Given the description of an element on the screen output the (x, y) to click on. 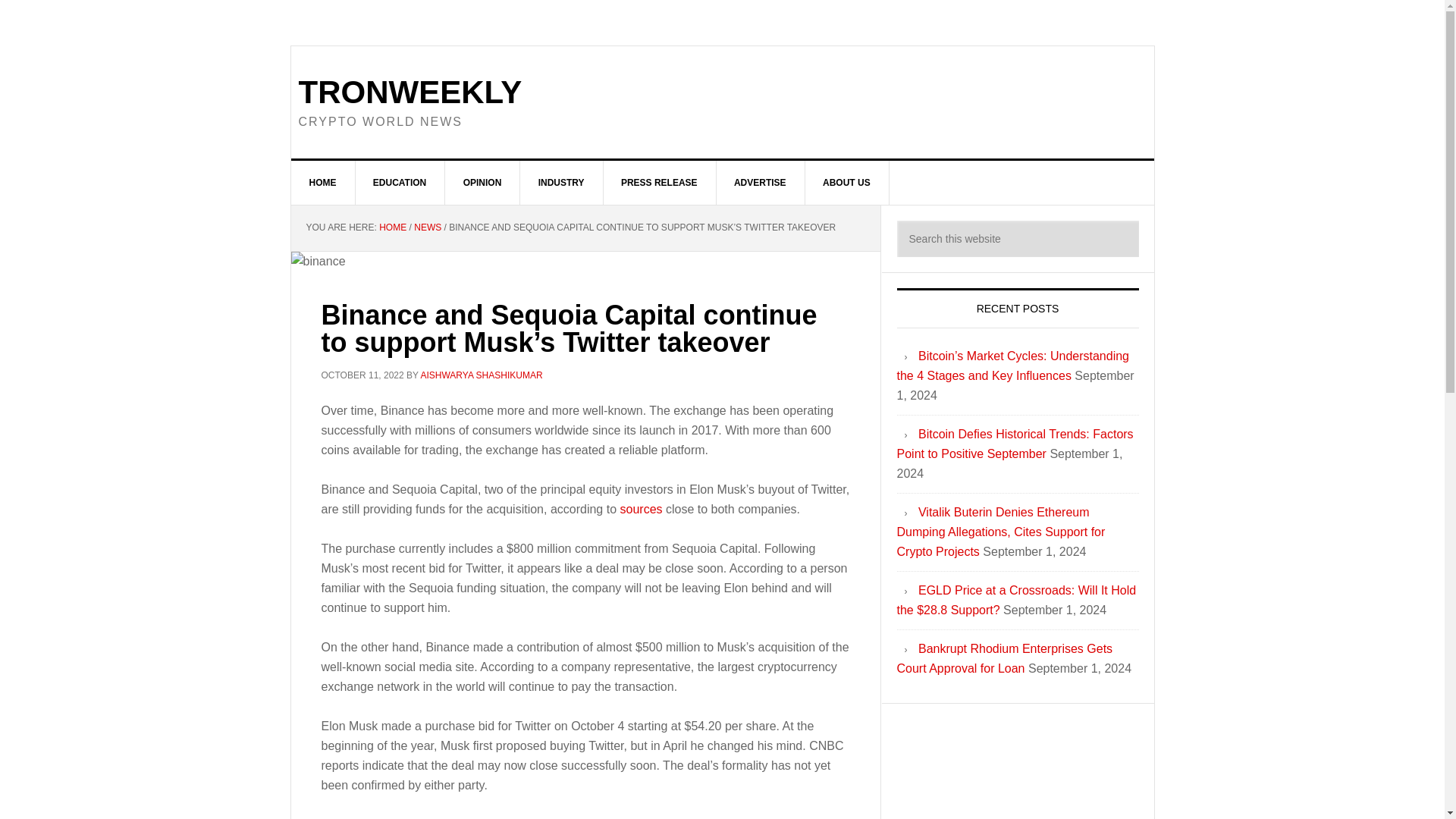
sources (641, 508)
OPINION (483, 182)
TRONWEEKLY (410, 91)
INDUSTRY (561, 182)
HOME (323, 182)
NEWS (427, 226)
ADVERTISE (760, 182)
